Given the description of an element on the screen output the (x, y) to click on. 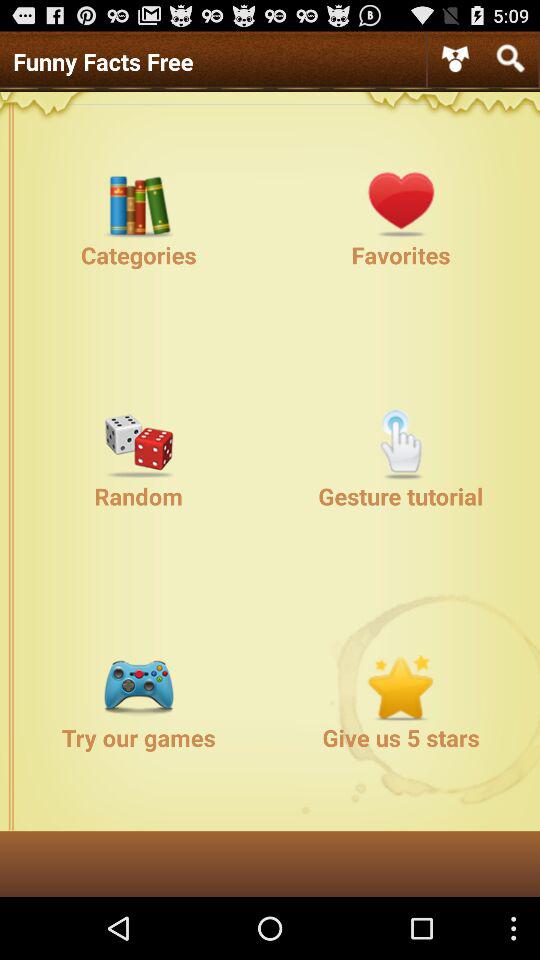
open search box (510, 58)
